Given the description of an element on the screen output the (x, y) to click on. 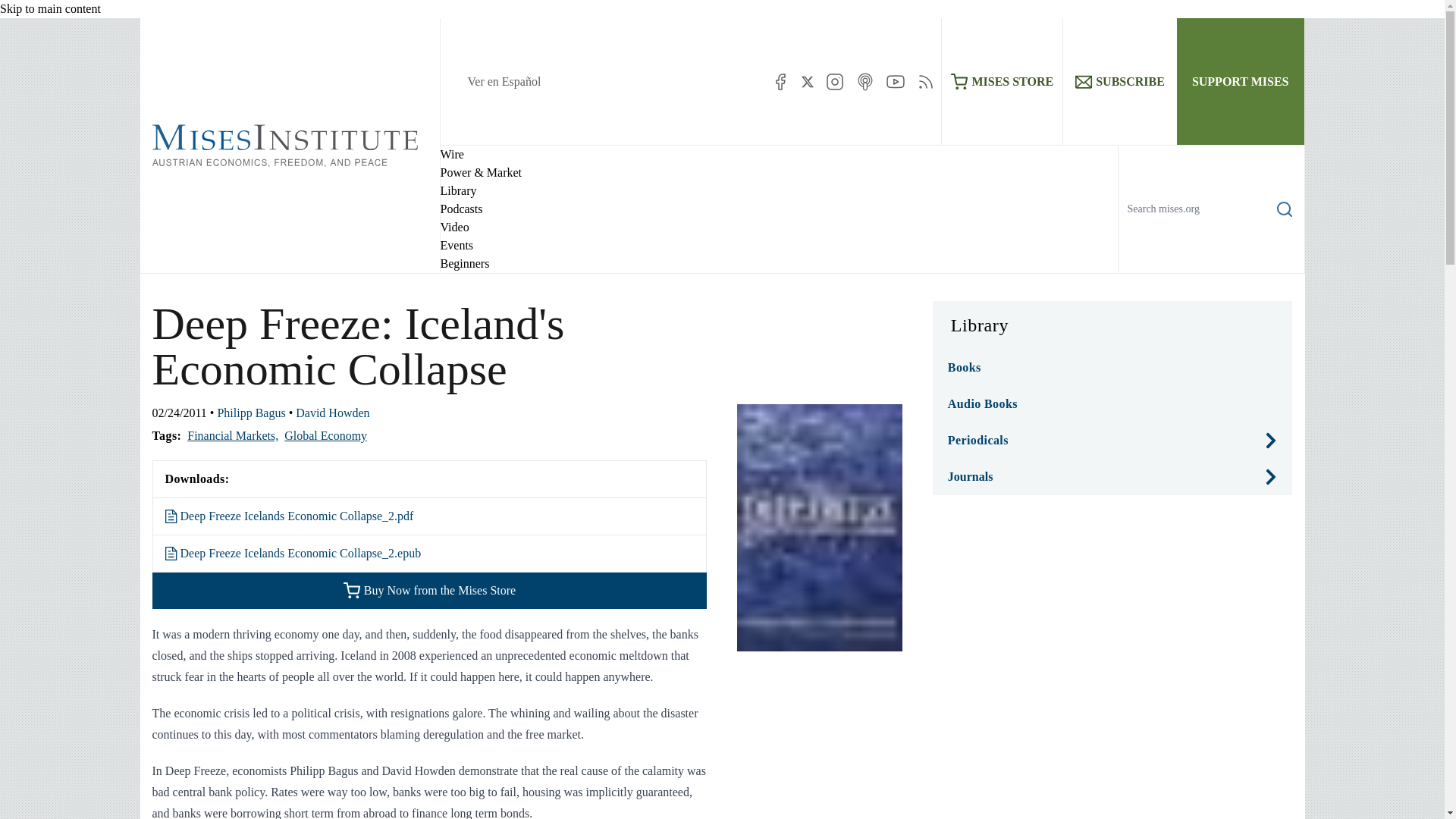
SUPPORT MISES (1240, 81)
Mises RSS feed (925, 81)
MISES STORE (1002, 81)
Events (456, 245)
Podcasts (460, 208)
Beginners (464, 263)
Mises Instagram (834, 81)
Mises itunes (865, 81)
Submit (1272, 272)
SUBSCRIBE (1119, 81)
